Given the description of an element on the screen output the (x, y) to click on. 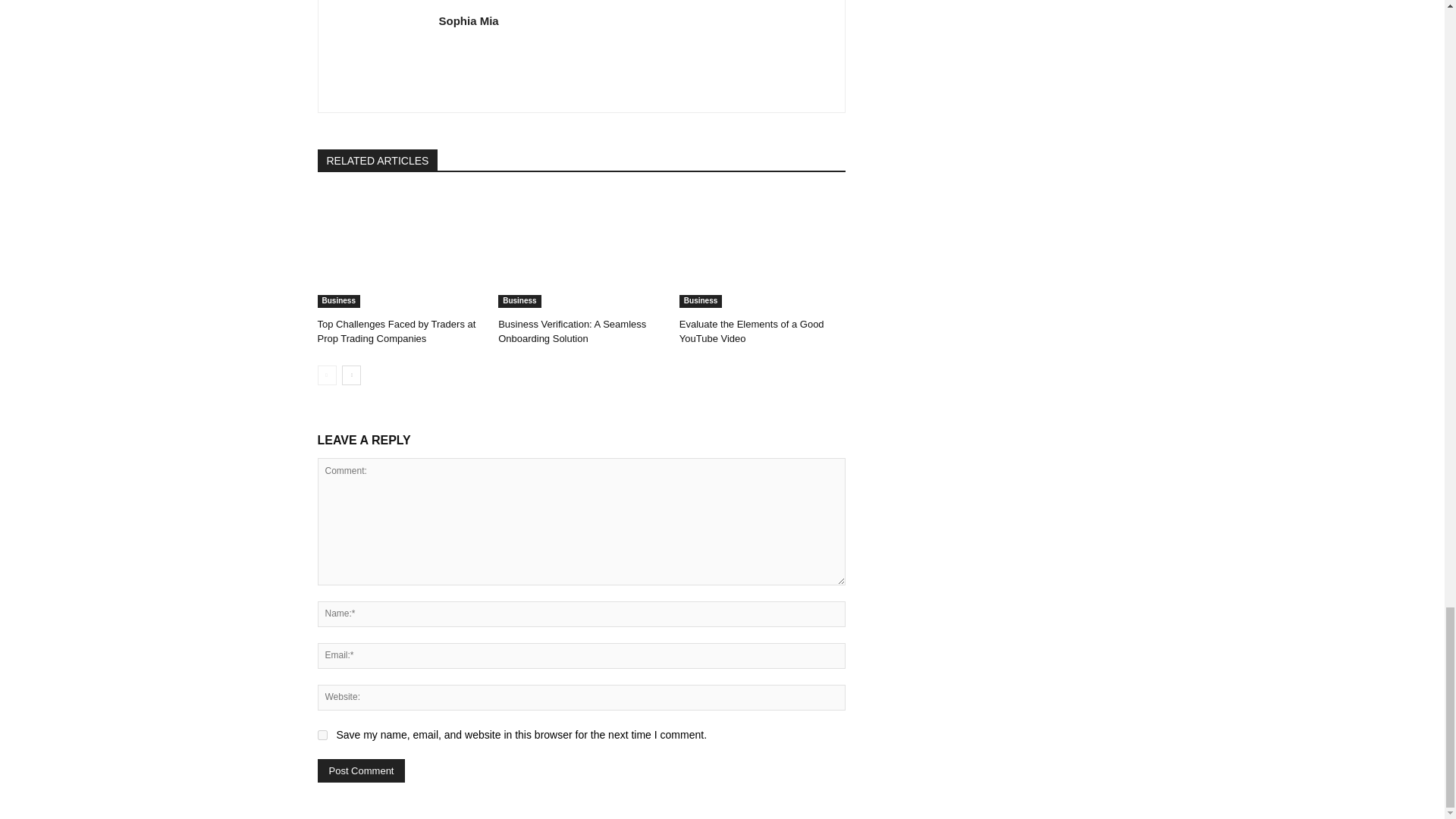
Post Comment (360, 770)
yes (321, 735)
